Given the description of an element on the screen output the (x, y) to click on. 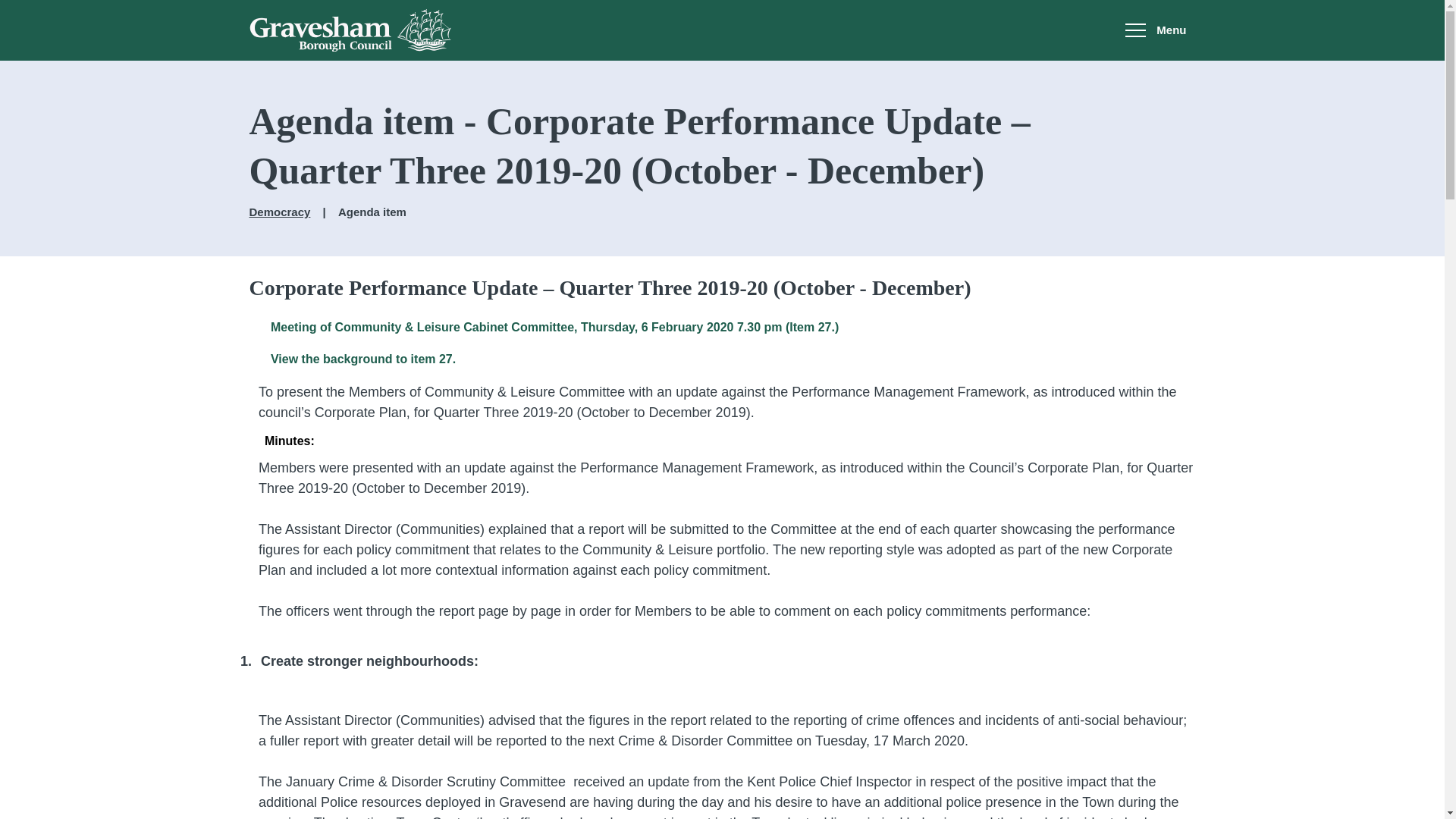
Link to issue details for item 27. (362, 358)
Link to meeting containing this item (554, 327)
Menu (1155, 30)
